Given the description of an element on the screen output the (x, y) to click on. 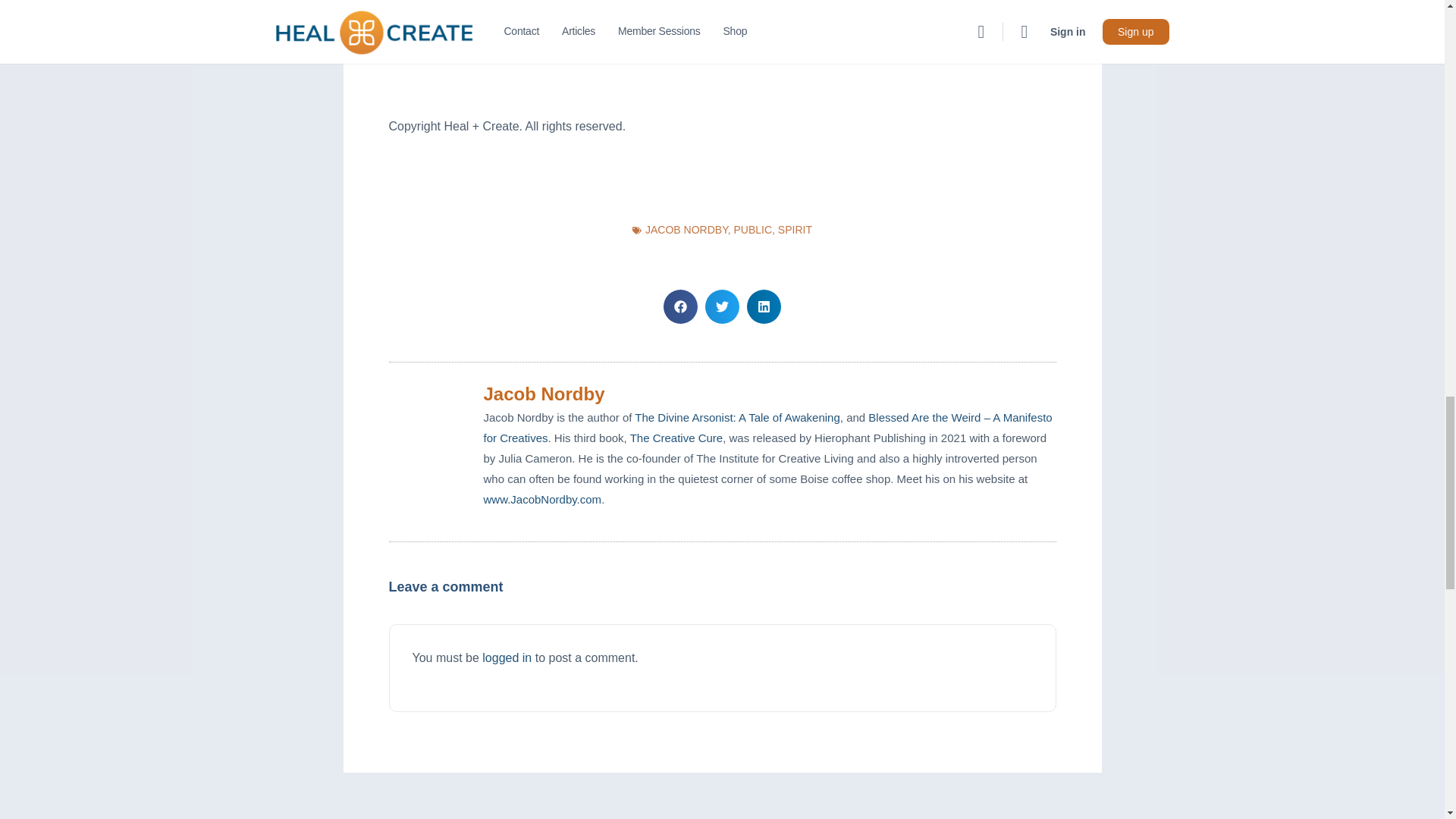
JACOB NORDBY (686, 229)
Jacob Nordby (770, 393)
The Creative Cure (676, 437)
SPIRIT (794, 229)
The Divine Arsonist: A Tale of Awakening (737, 417)
logged in (506, 657)
PUBLIC (752, 229)
www.JacobNordby.com (542, 499)
